Given the description of an element on the screen output the (x, y) to click on. 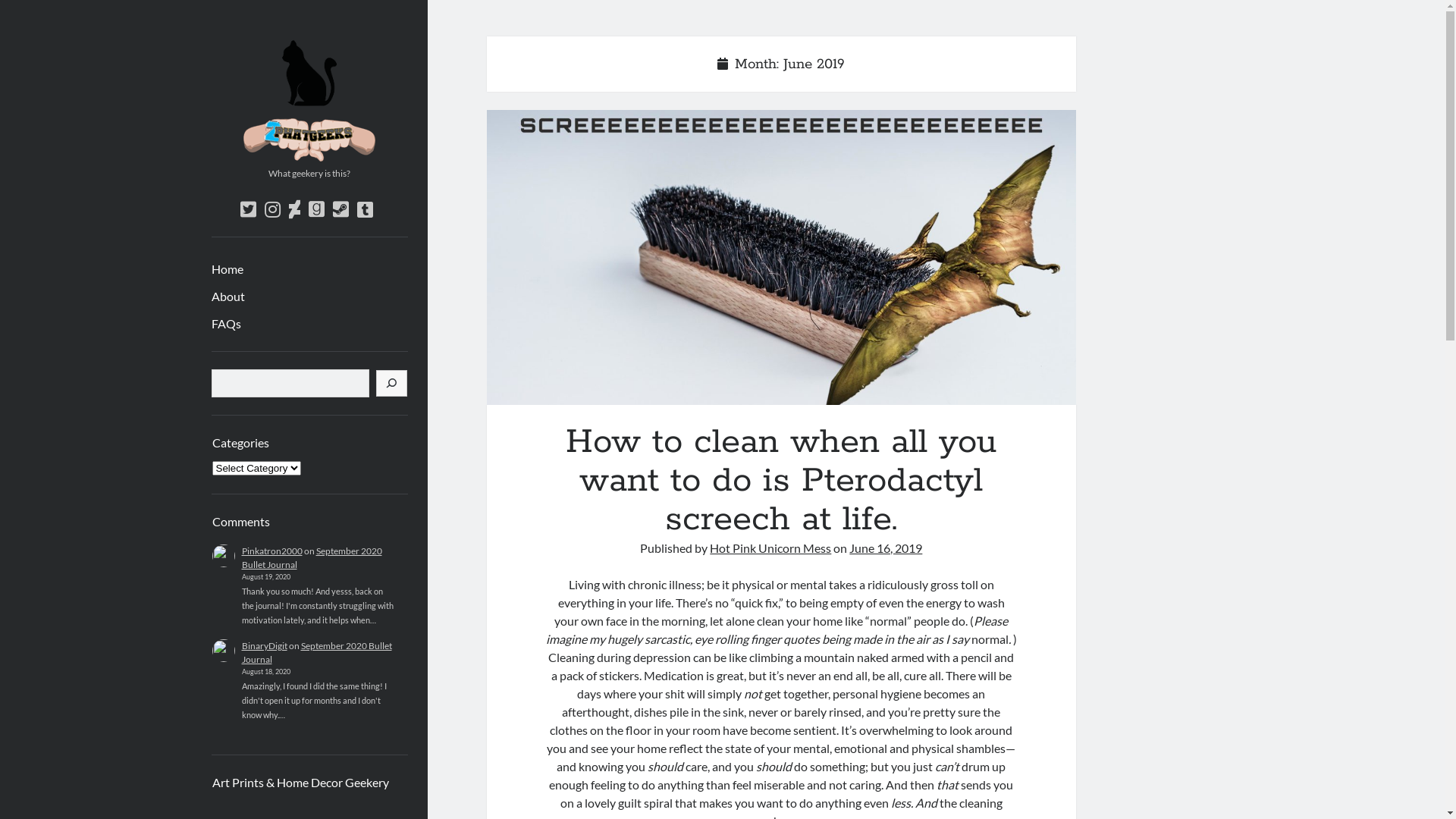
goodreads Element type: text (315, 209)
BinaryDigit Element type: text (263, 645)
deviantart Element type: text (293, 209)
Pinkatron2000 Element type: text (271, 550)
tumblr Element type: text (364, 209)
instagram Element type: text (271, 209)
Hot Pink Unicorn Mess Element type: text (770, 547)
September 2020 Bullet Journal Element type: text (311, 557)
FAQs Element type: text (225, 323)
Home Element type: text (226, 269)
June 16, 2019 Element type: text (885, 547)
About Element type: text (227, 296)
twitter Element type: text (247, 209)
steam Element type: text (340, 209)
2Phatgeeks.com Element type: text (309, 156)
September 2020 Bullet Journal Element type: text (316, 652)
